Given the description of an element on the screen output the (x, y) to click on. 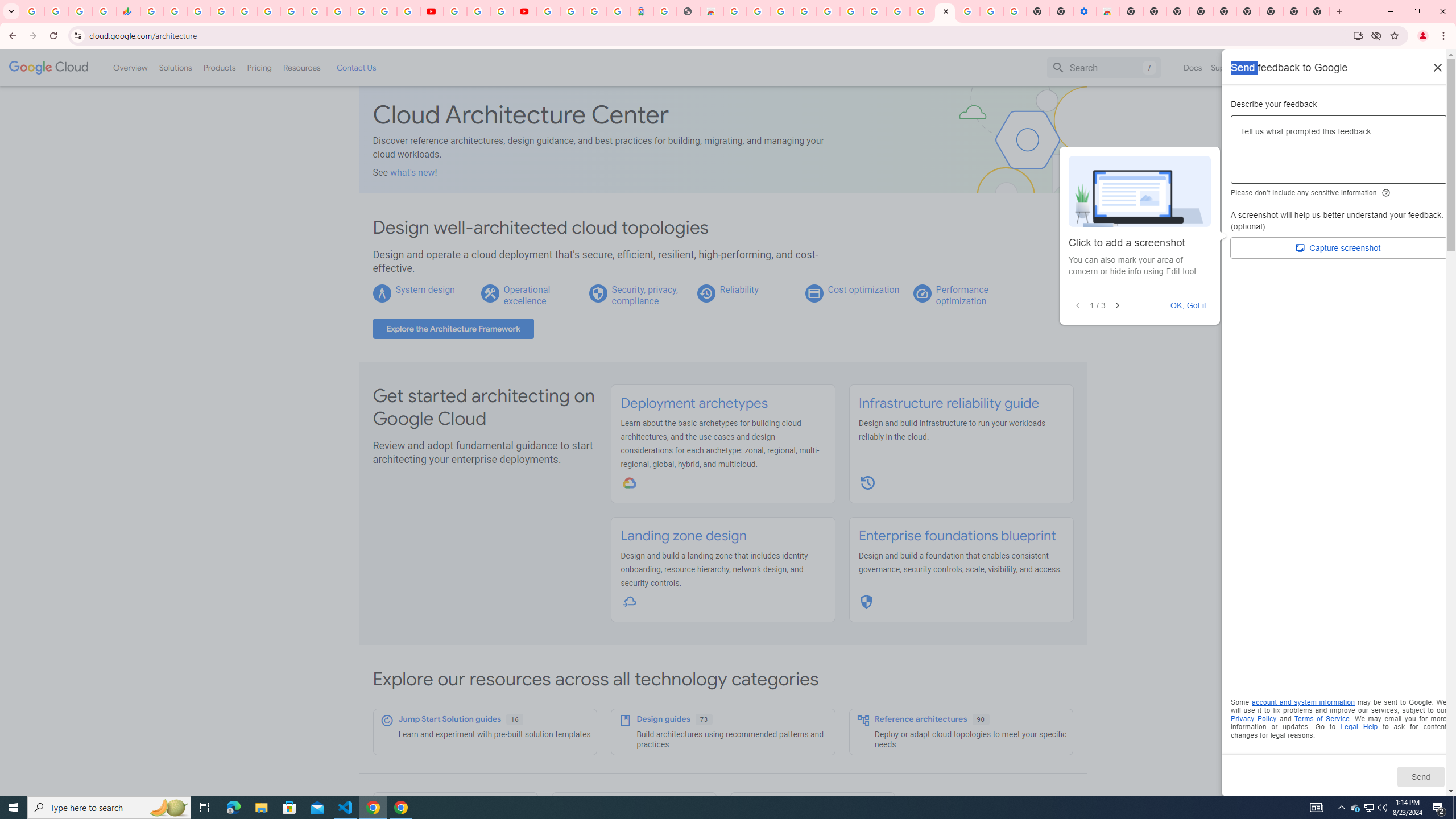
Create your Google Account (897, 11)
Create your Google Account (757, 11)
Operational excellence (526, 295)
Contact Us (355, 67)
YouTube (454, 11)
Pricing (259, 67)
Security, privacy, compliance (644, 295)
Send (1420, 776)
Describe your feedback (1338, 153)
